Given the description of an element on the screen output the (x, y) to click on. 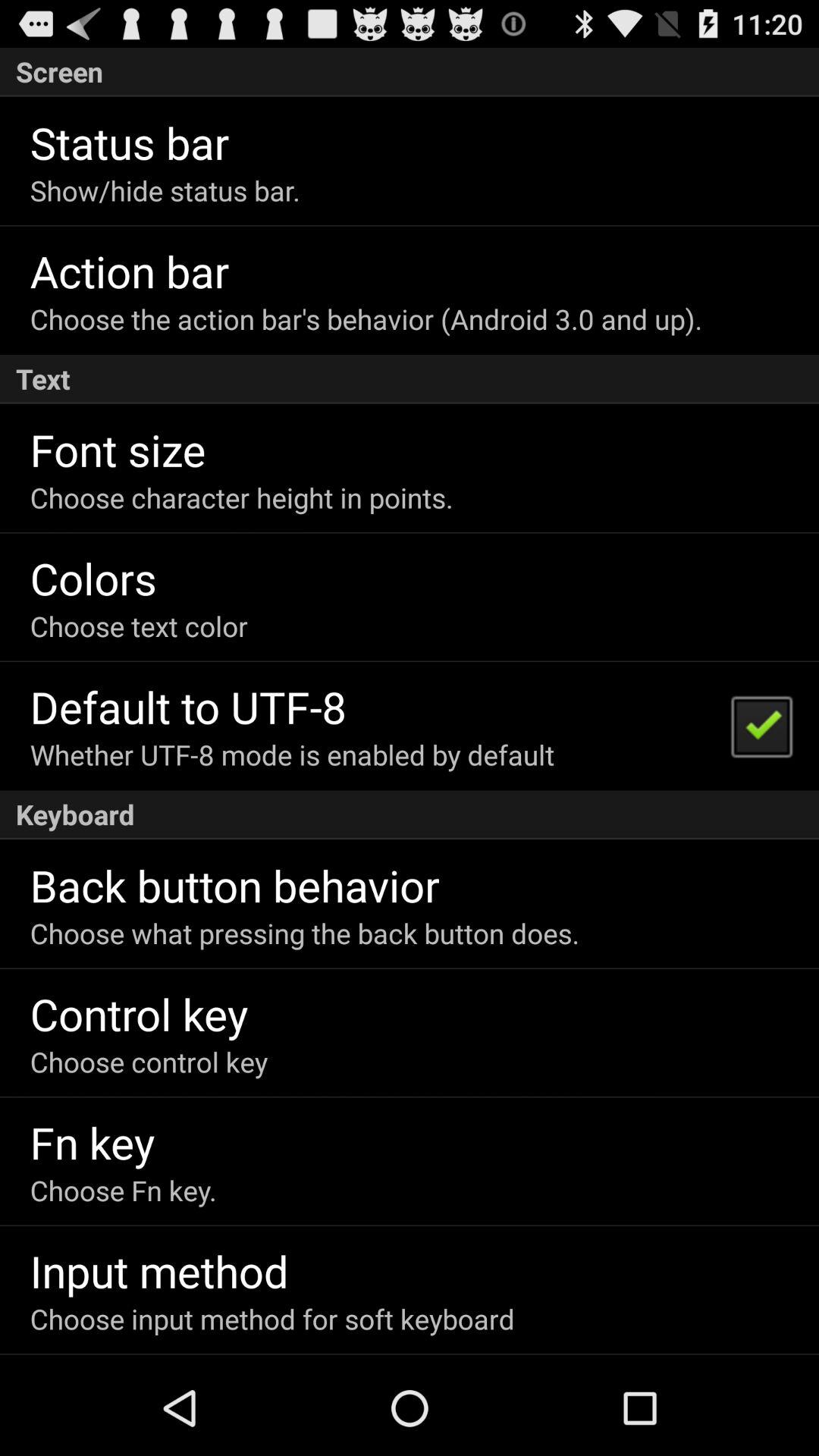
swipe to the choose what pressing icon (304, 933)
